Given the description of an element on the screen output the (x, y) to click on. 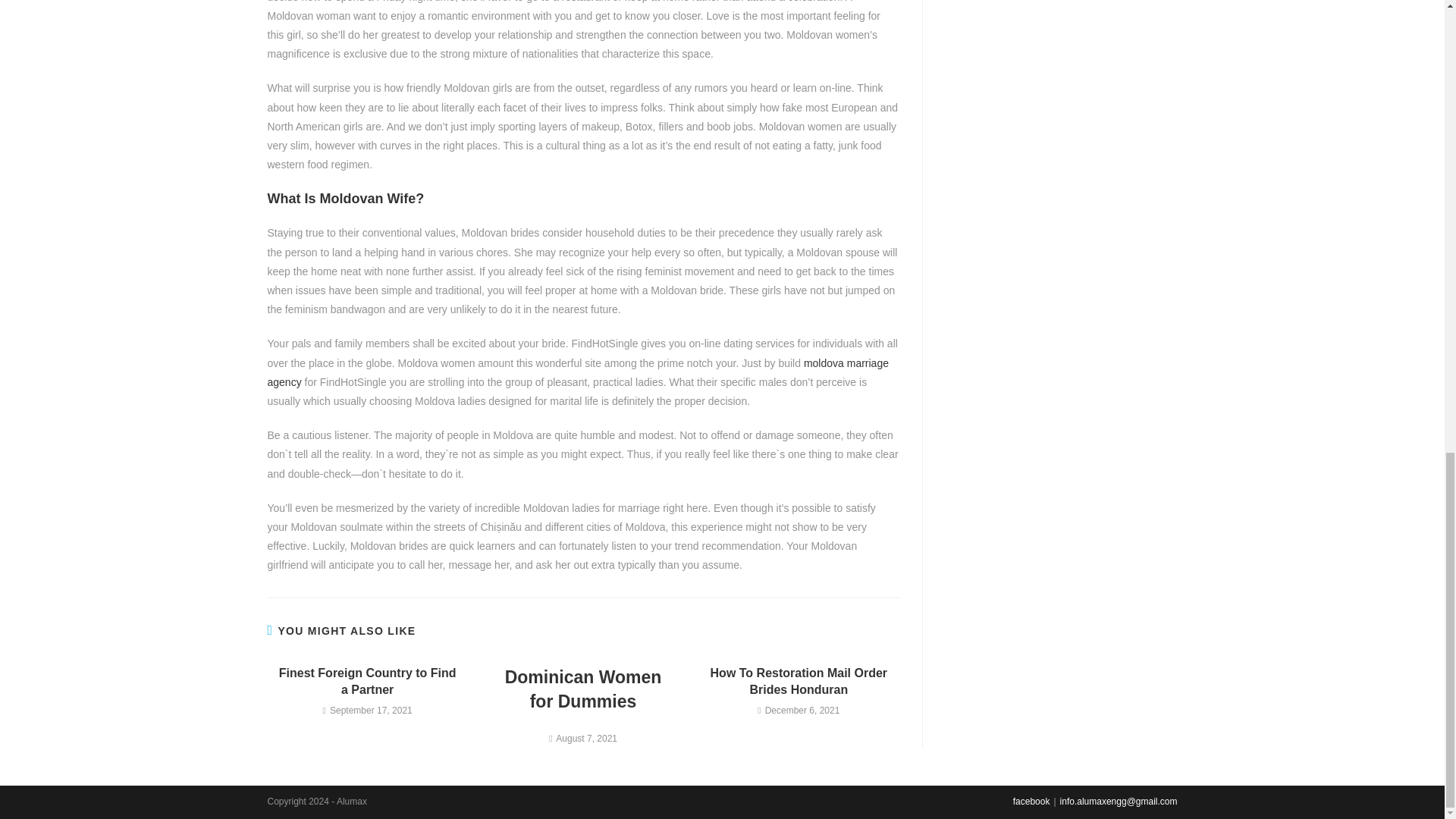
Finest Foreign Country to Find a Partner (367, 682)
How To Restoration Mail Order Brides Honduran (798, 682)
Finest Foreign Country to Find a Partner (367, 682)
facebook (1031, 801)
Dominican Women for Dummies (583, 689)
How To Restoration Mail Order Brides Honduran (798, 682)
Dominican Women for Dummies (583, 689)
moldova marriage agency (577, 372)
